Given the description of an element on the screen output the (x, y) to click on. 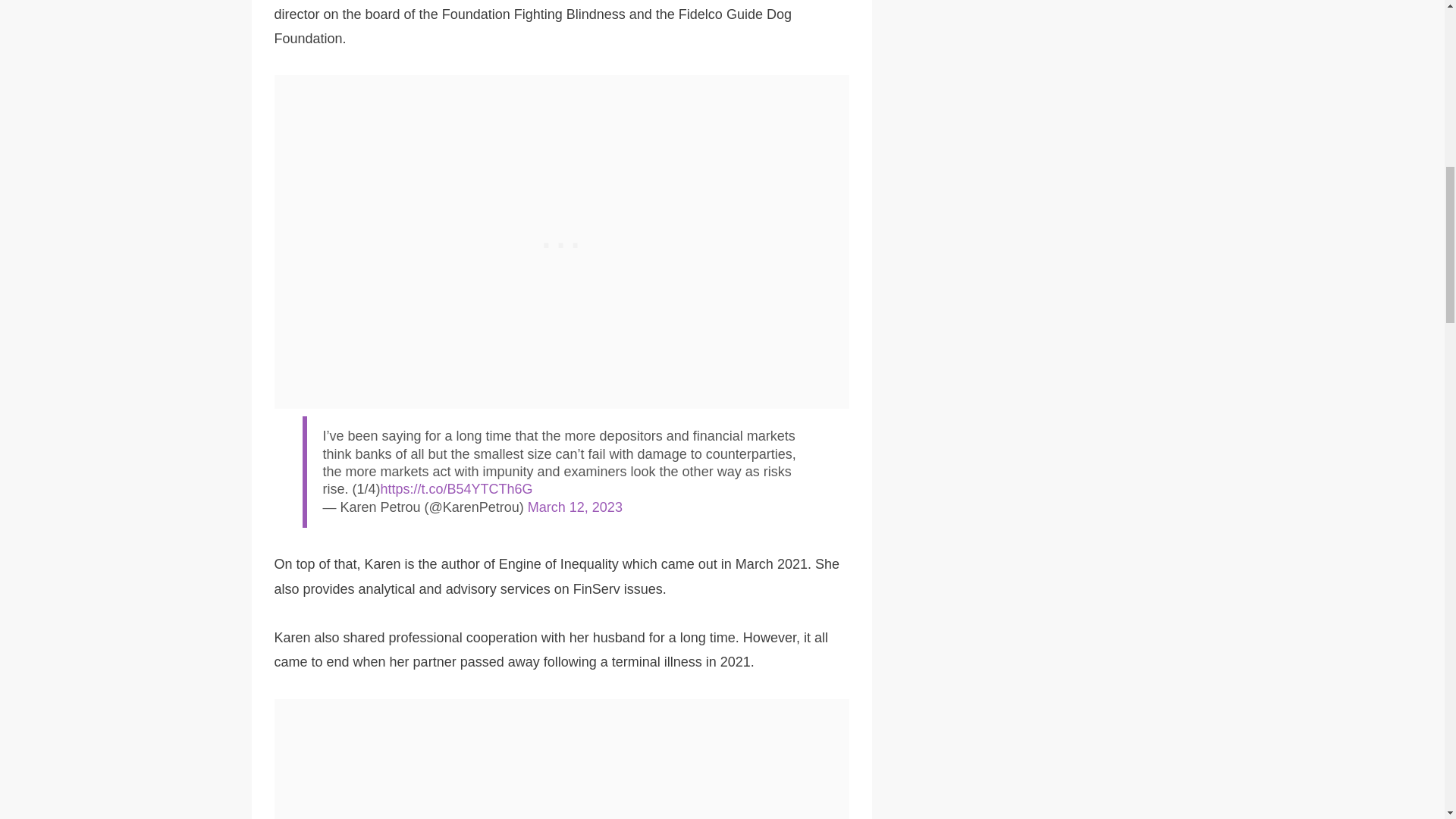
March 12, 2023 (575, 507)
